Given the description of an element on the screen output the (x, y) to click on. 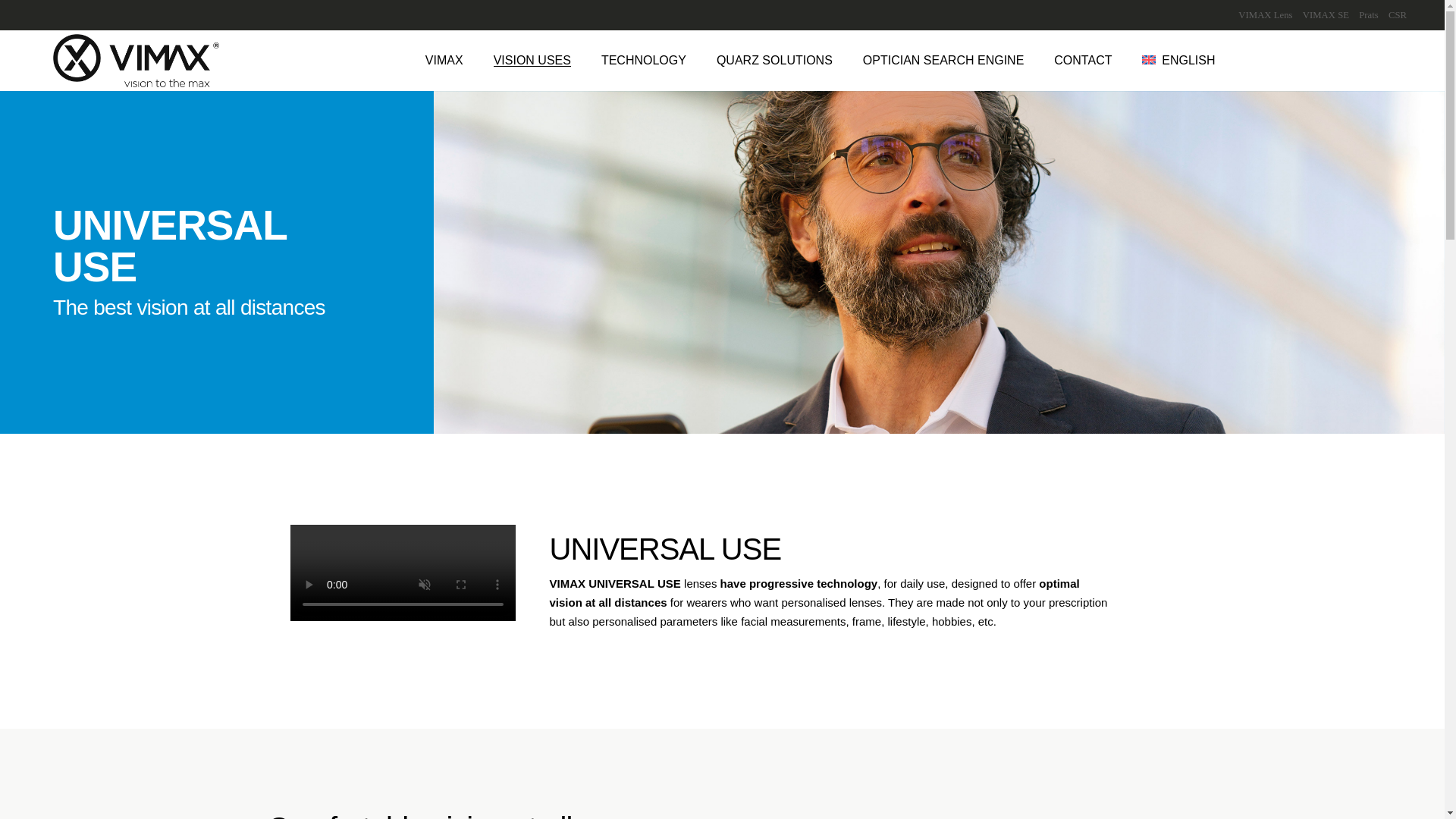
VISION USES (531, 60)
CSR (1393, 14)
OPTICIAN SEARCH ENGINE (943, 60)
English (1177, 60)
TECHNOLOGY (643, 60)
ENGLISH (1177, 60)
Prats (1364, 14)
VIMAX Lens (1261, 14)
QUARZ SOLUTIONS (774, 60)
CONTACT (1083, 60)
VIMAX SE (1322, 14)
